Given the description of an element on the screen output the (x, y) to click on. 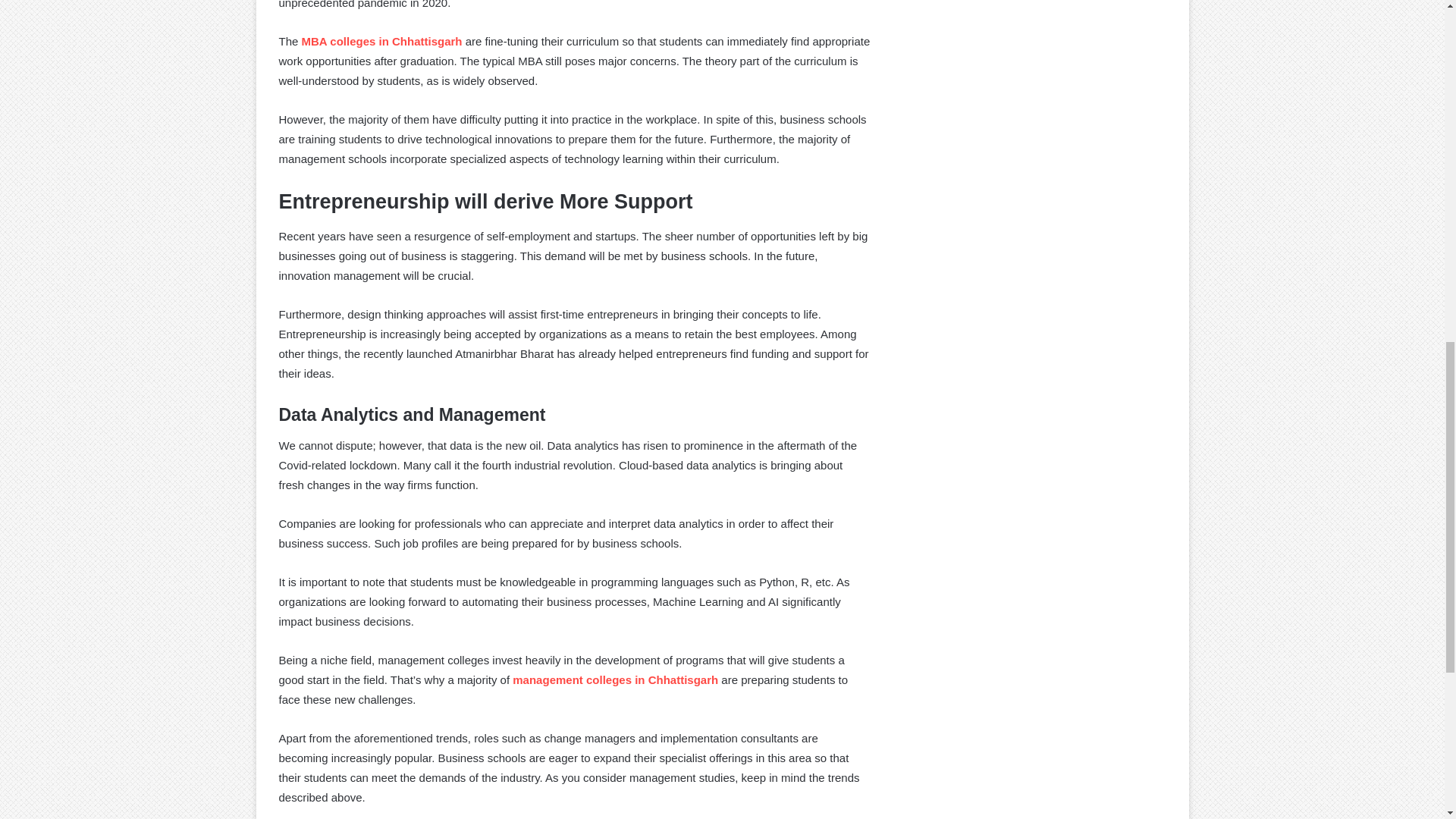
MBA colleges in Chhattisgarh (382, 41)
management colleges in Chhattisgarh (614, 679)
Back to top button (1419, 62)
